Given the description of an element on the screen output the (x, y) to click on. 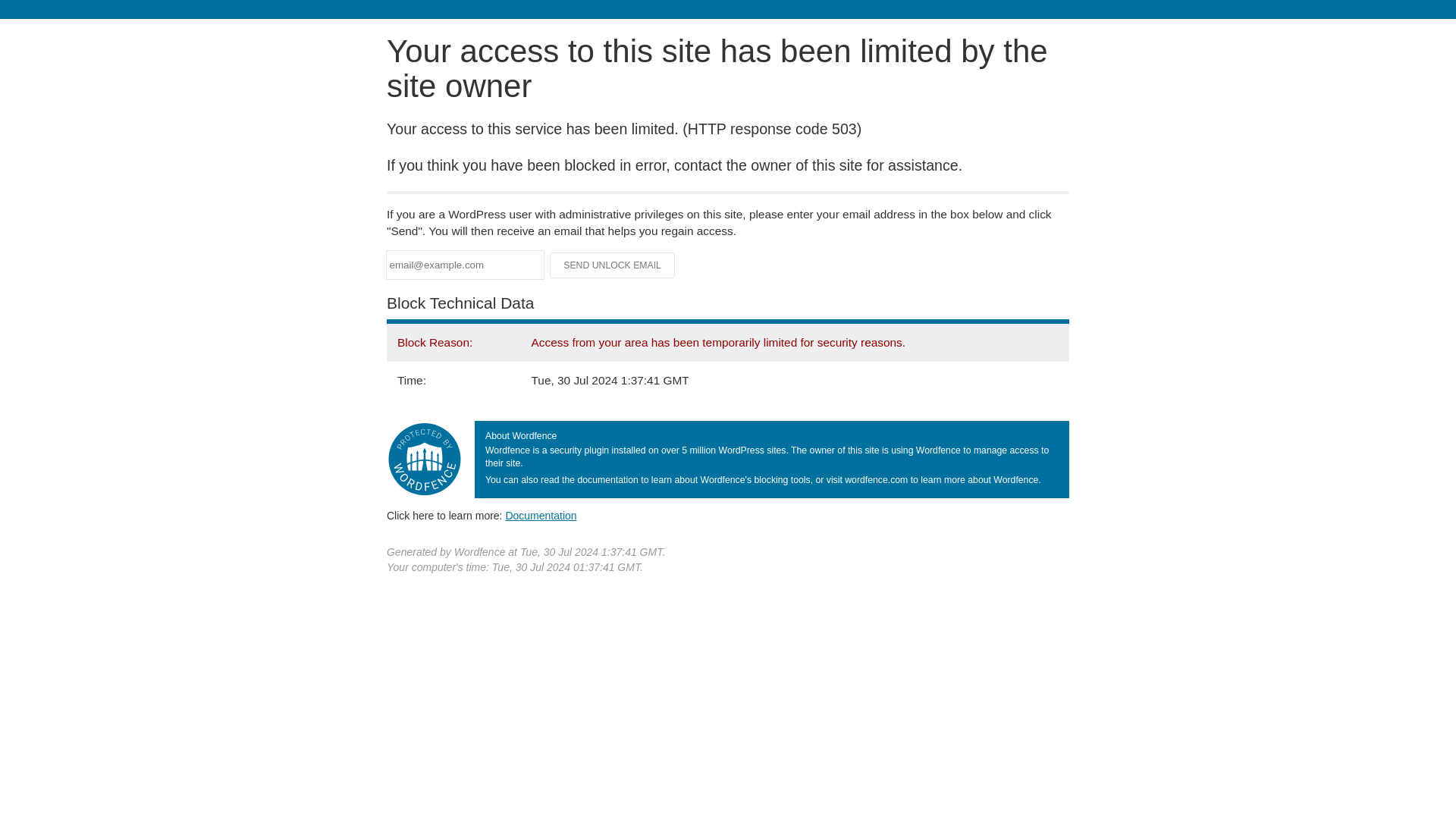
Documentation (540, 515)
Send Unlock Email (612, 265)
Send Unlock Email (612, 265)
